Given the description of an element on the screen output the (x, y) to click on. 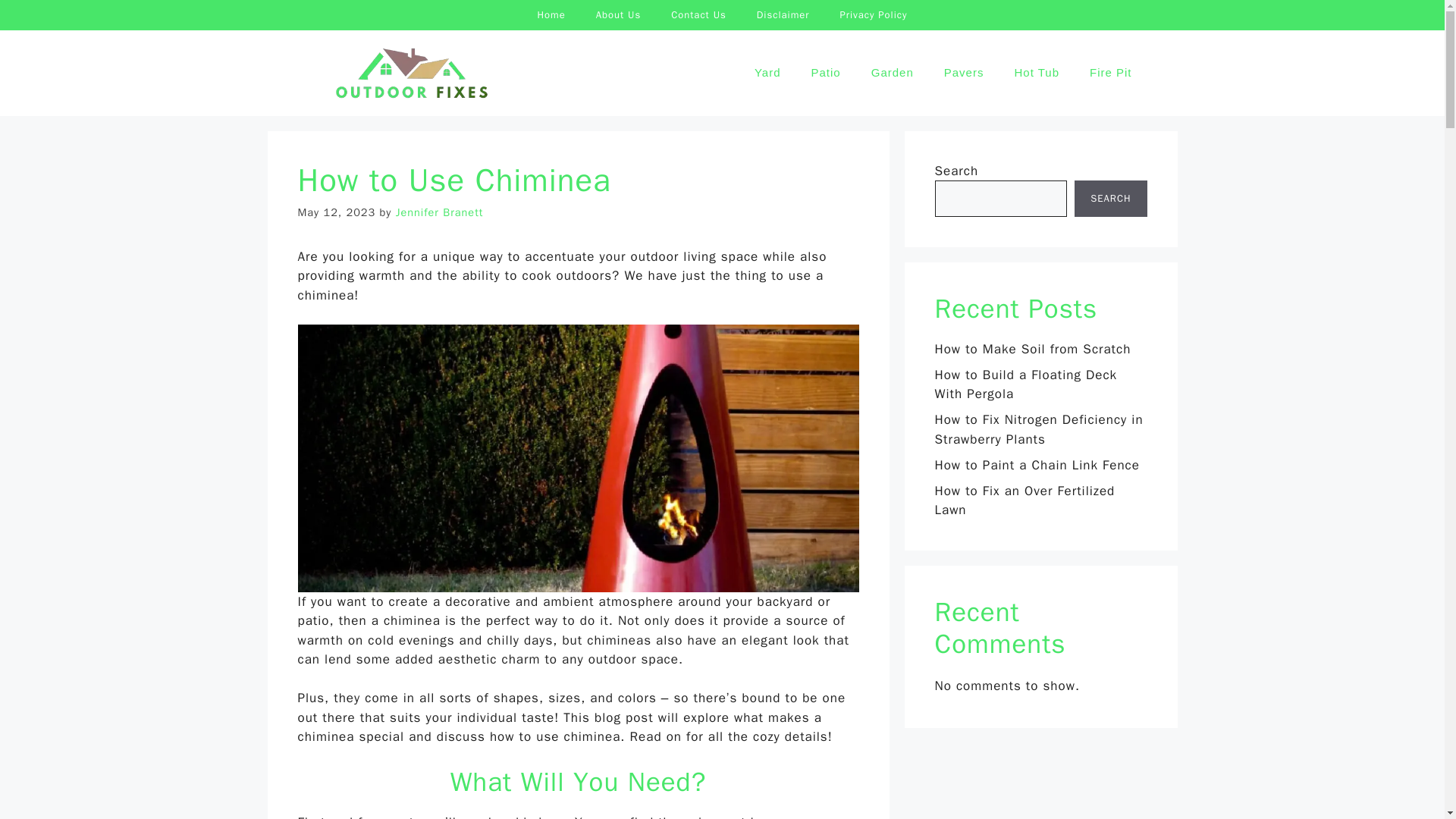
Home (550, 15)
About Us (618, 15)
Contact Us (698, 15)
Fire Pit (1110, 72)
Jennifer Branett (439, 212)
Disclaimer (783, 15)
How to Fix Nitrogen Deficiency in Strawberry Plants (1038, 429)
Yard (767, 72)
How to Make Soil from Scratch (1032, 349)
SEARCH (1110, 198)
How to Build a Floating Deck With Pergola (1025, 384)
Pavers (963, 72)
Garden (892, 72)
Hot Tub (1036, 72)
How to Paint a Chain Link Fence (1036, 465)
